Given the description of an element on the screen output the (x, y) to click on. 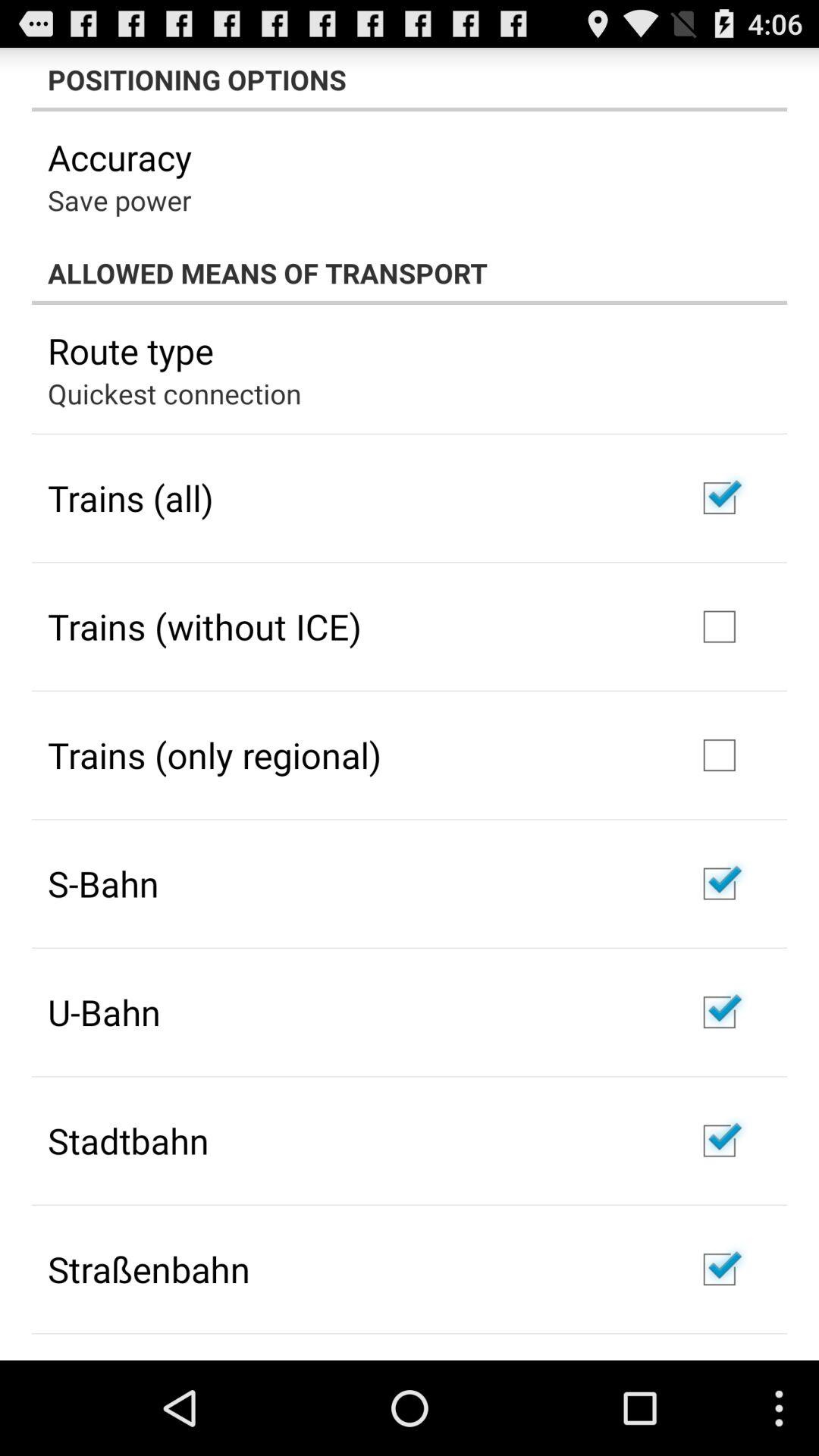
swipe to quickest connection item (174, 393)
